Given the description of an element on the screen output the (x, y) to click on. 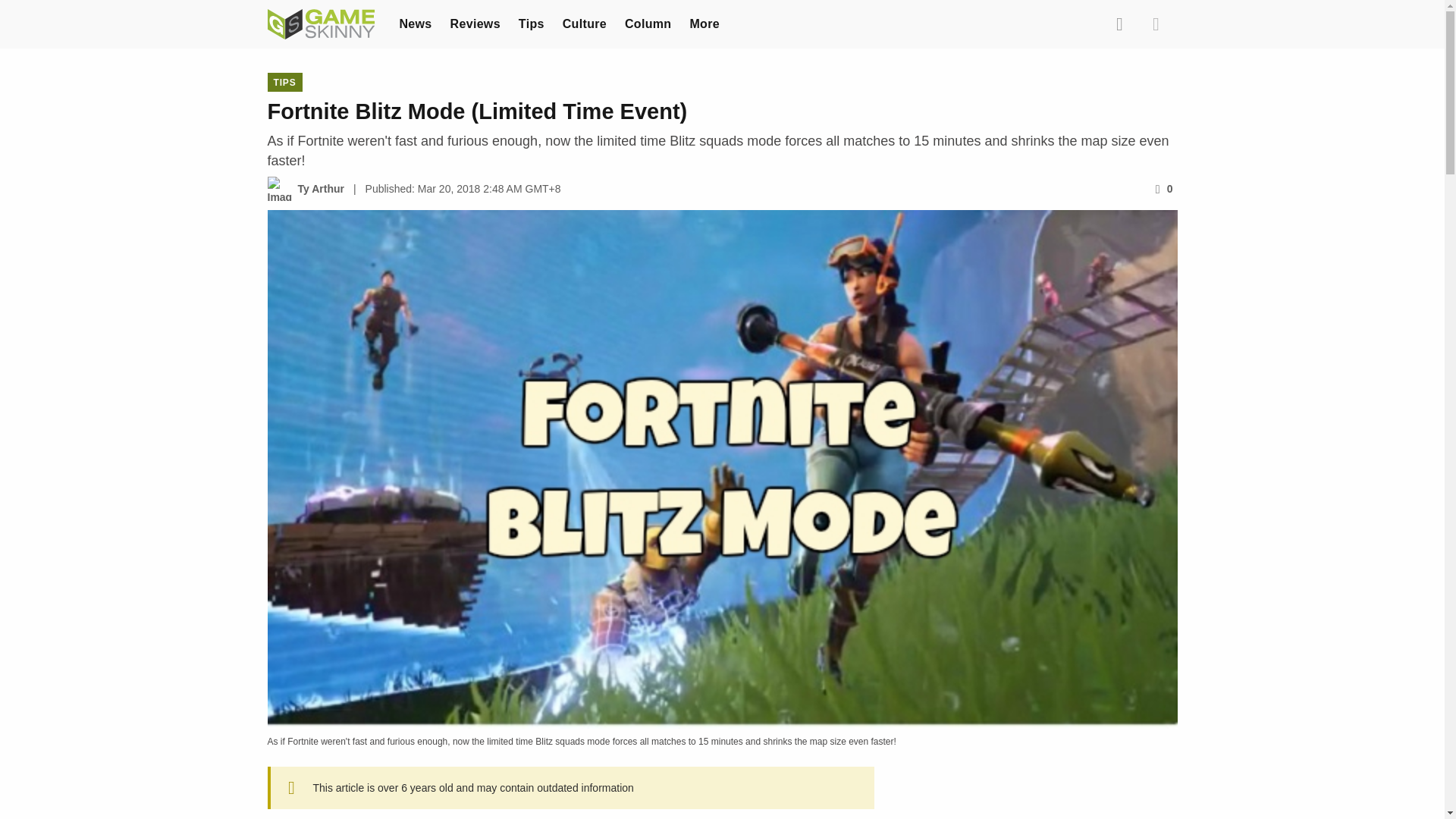
Column (647, 23)
Culture (584, 23)
News (414, 23)
Reviews (474, 23)
Dark Mode (1155, 24)
Search (1118, 24)
Tips (531, 23)
